Given the description of an element on the screen output the (x, y) to click on. 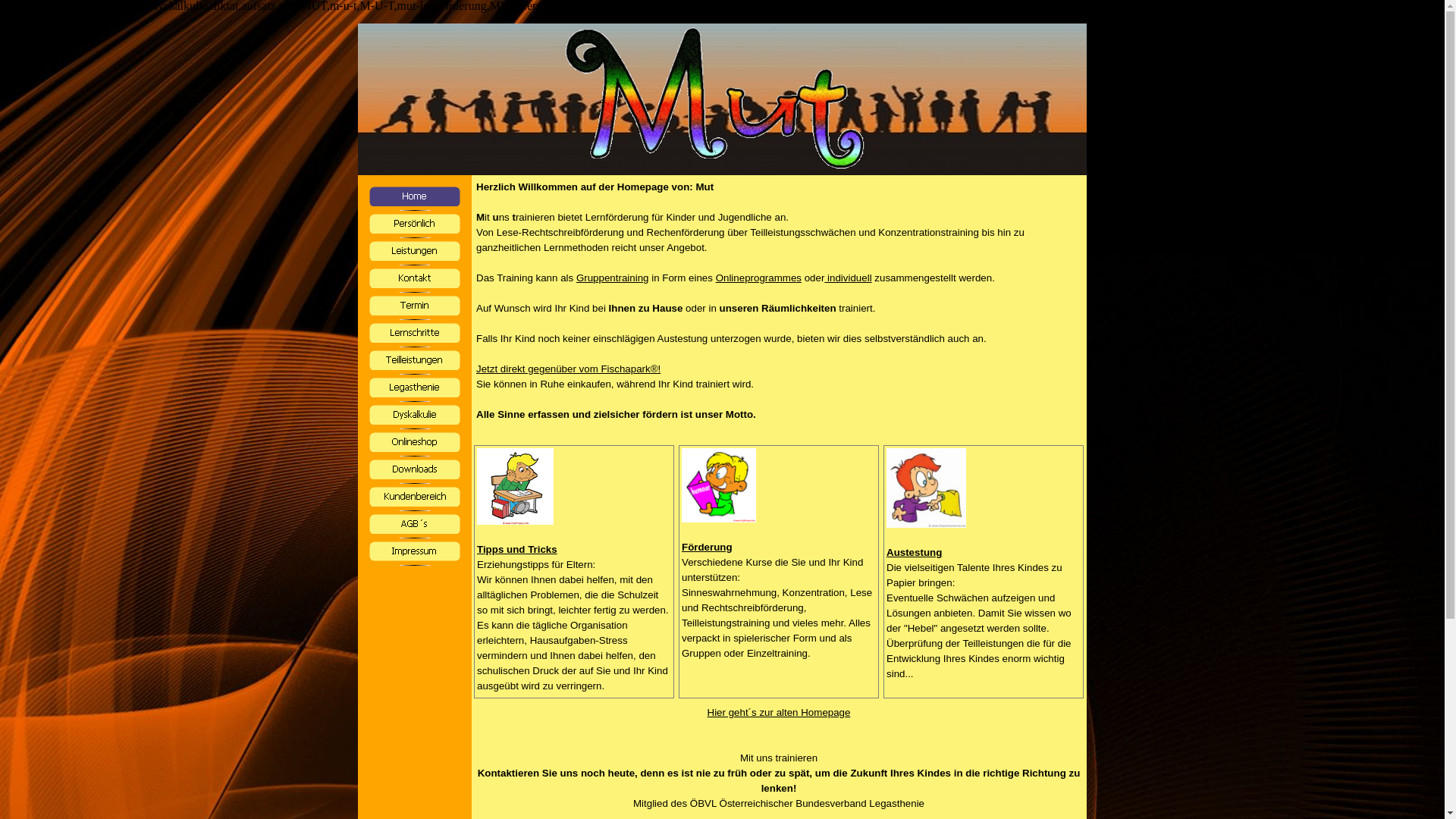
Tipps und Tricks Element type: text (516, 549)
individuell Element type: text (847, 277)
Austestung Element type: text (913, 552)
Gruppentraining Element type: text (612, 277)
Onlineprogrammes Element type: text (758, 277)
